Given the description of an element on the screen output the (x, y) to click on. 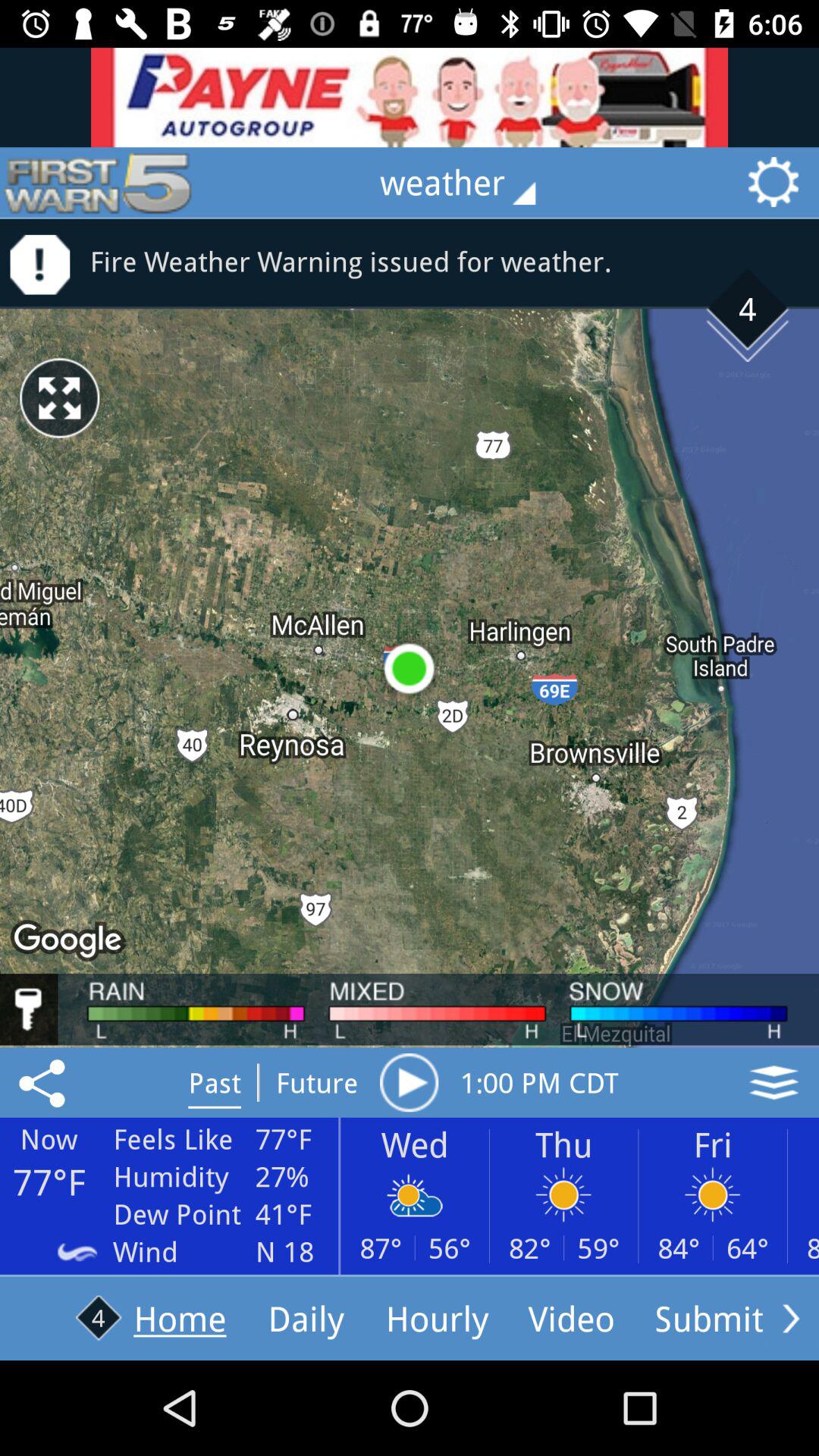
this button used to going forward (791, 1318)
